Given the description of an element on the screen output the (x, y) to click on. 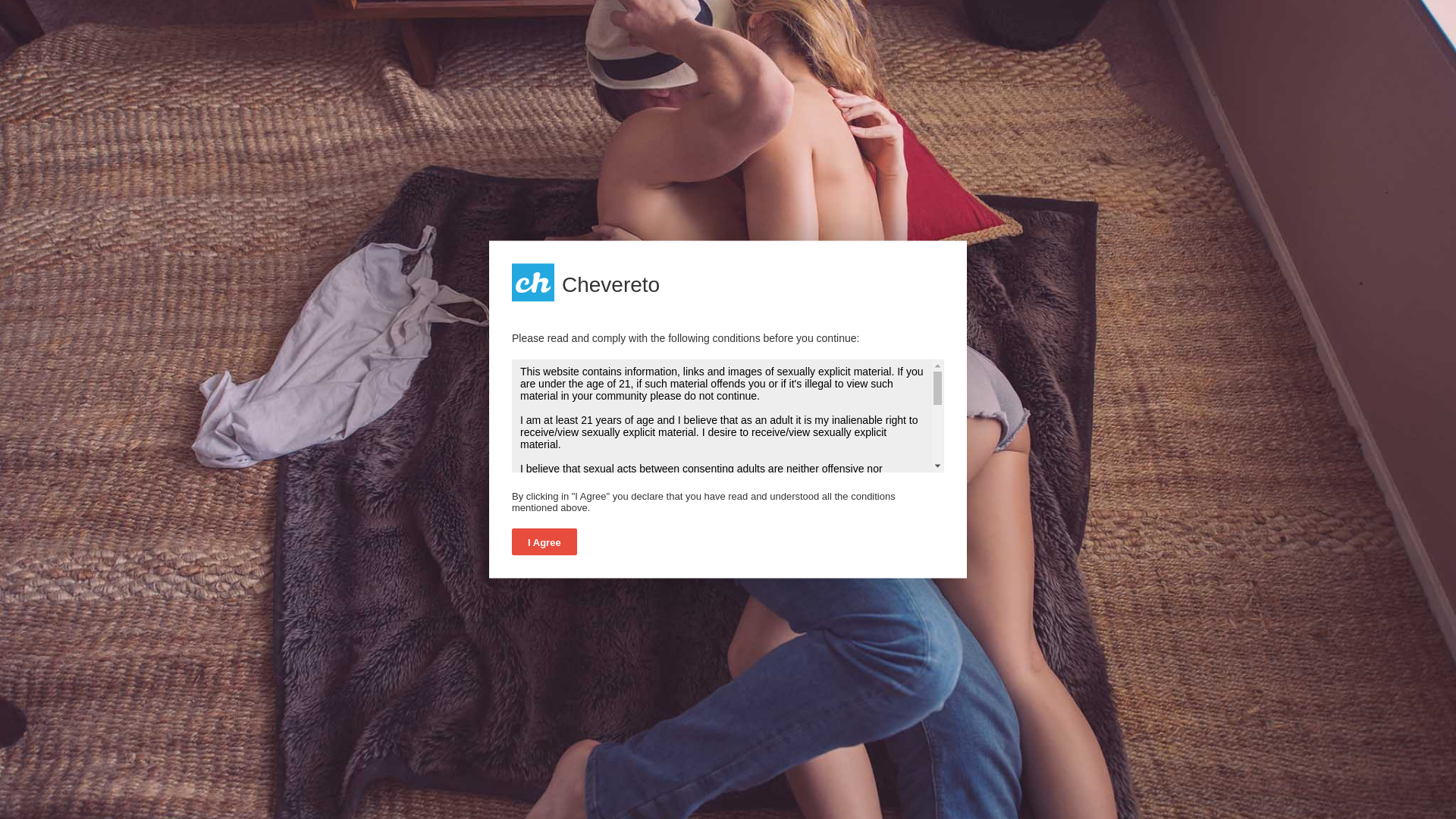
I Agree Element type: text (544, 541)
